Given the description of an element on the screen output the (x, y) to click on. 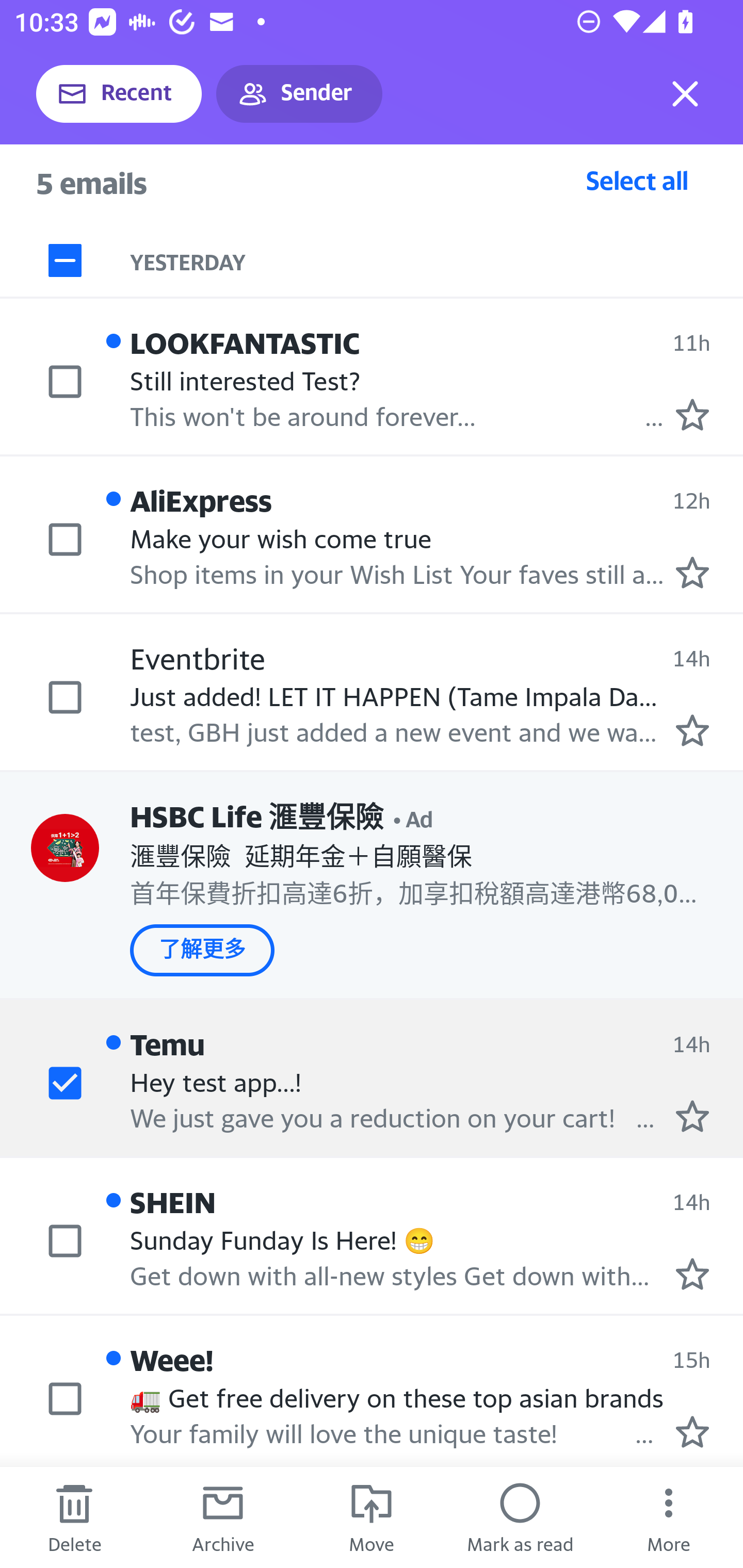
Sender (299, 93)
Exit selection mode (684, 93)
Select all (637, 180)
YESTERDAY (436, 260)
Mark as starred. (692, 414)
Mark as starred. (692, 573)
Mark as starred. (692, 729)
Mark as starred. (692, 1115)
Mark as starred. (692, 1273)
Mark as starred. (692, 1432)
Delete (74, 1517)
Archive (222, 1517)
Move (371, 1517)
Mark as read (519, 1517)
More (668, 1517)
